Given the description of an element on the screen output the (x, y) to click on. 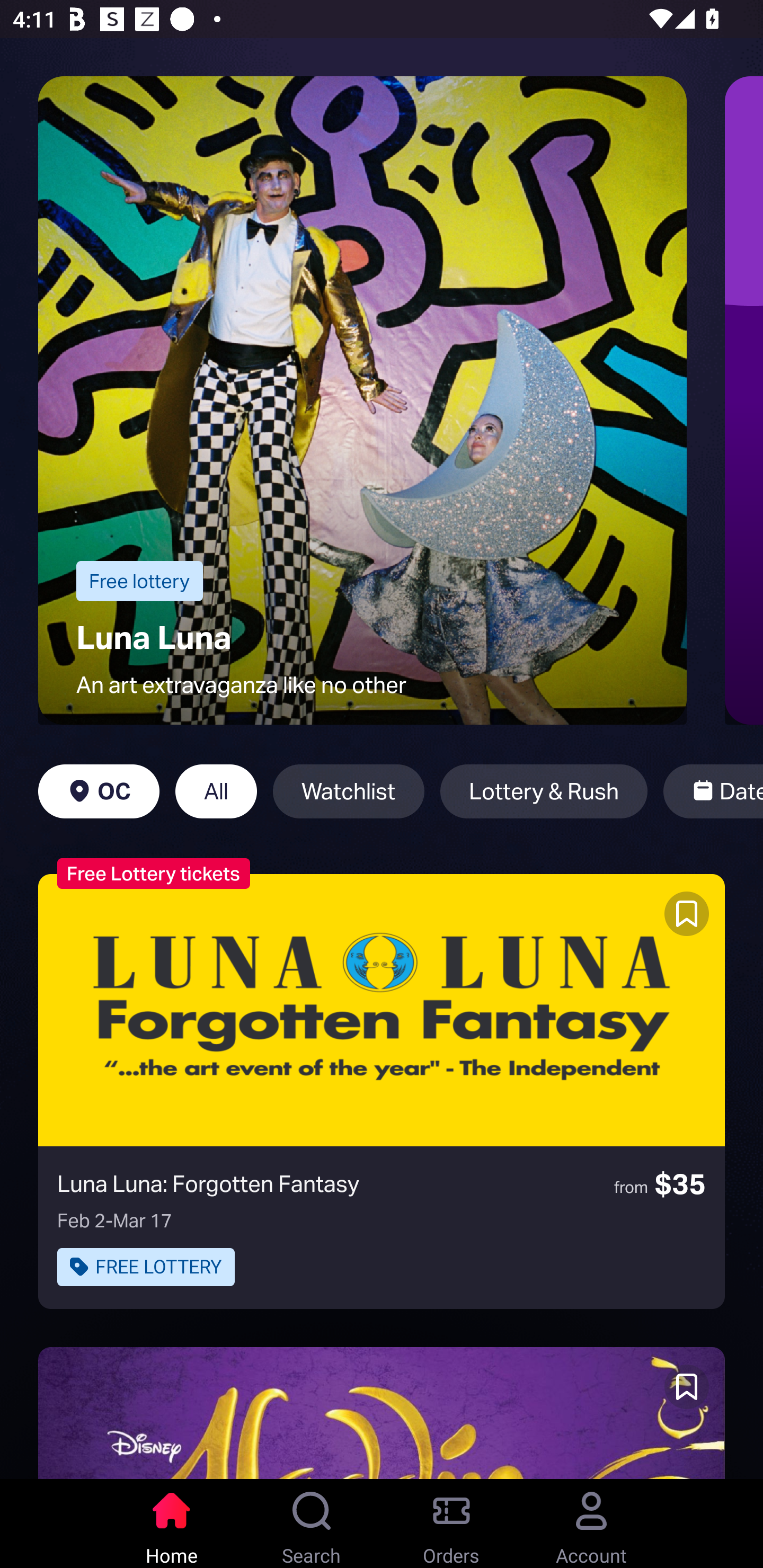
OC (98, 791)
All (216, 791)
Watchlist (348, 791)
Lottery & Rush (543, 791)
Search (311, 1523)
Orders (451, 1523)
Account (591, 1523)
